Given the description of an element on the screen output the (x, y) to click on. 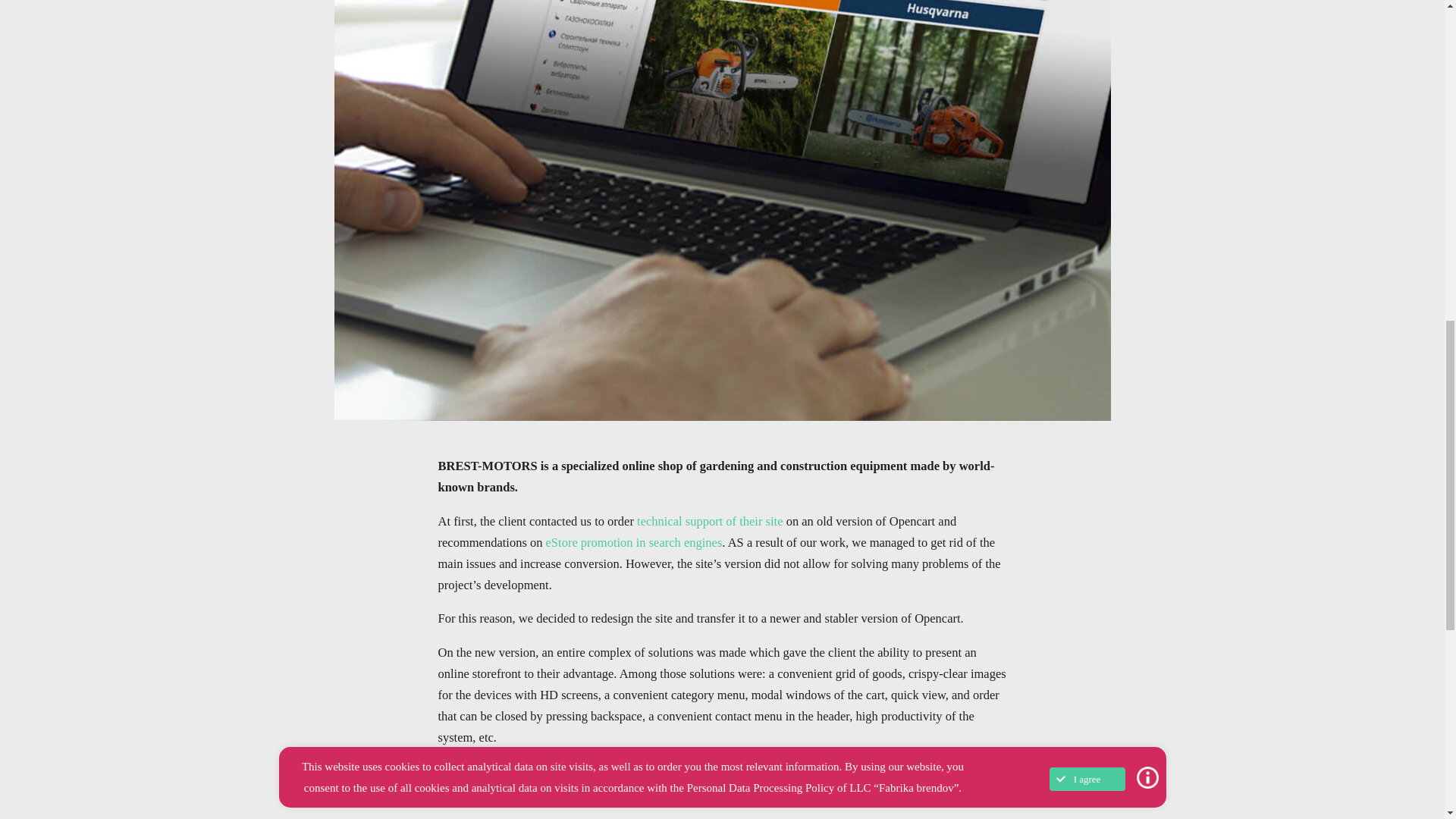
technical support of their site (710, 521)
eStore promotion in search engines (634, 542)
